Given the description of an element on the screen output the (x, y) to click on. 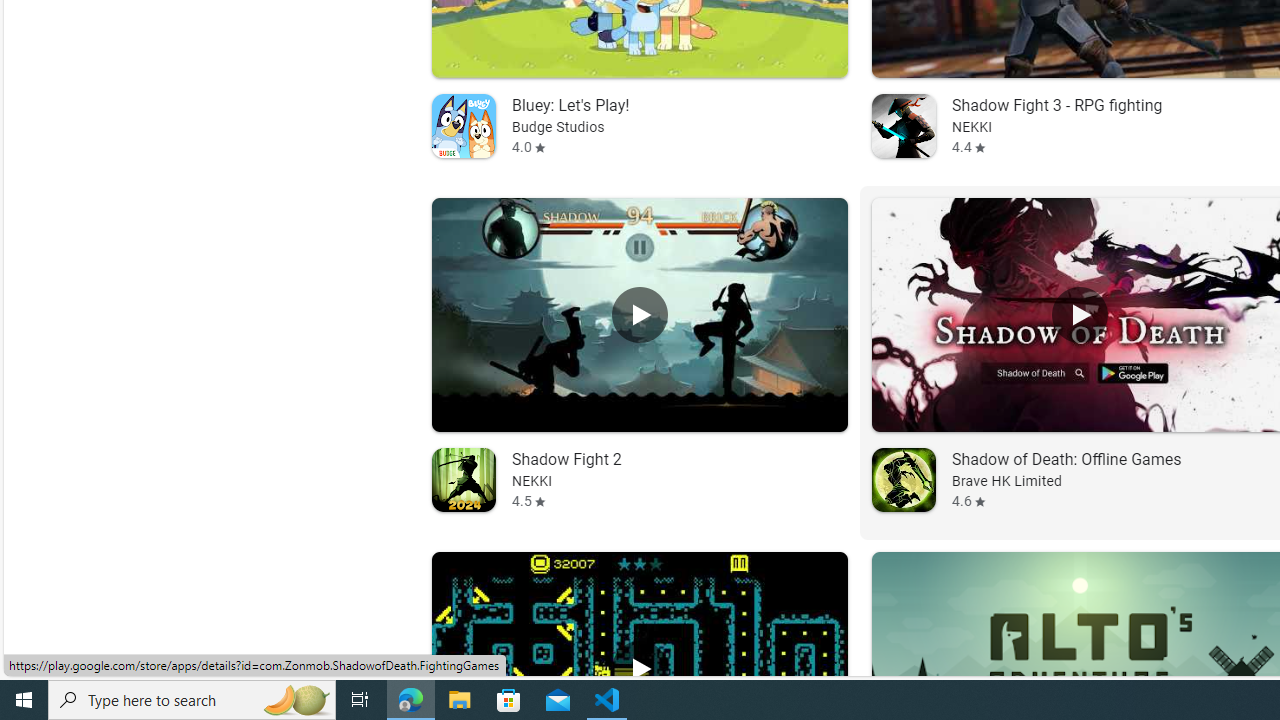
Play Shadow Fight 2 (638, 315)
Play Tomb of the Mask (638, 668)
Play Shadow of Death: Offline Games (1079, 315)
